Given the description of an element on the screen output the (x, y) to click on. 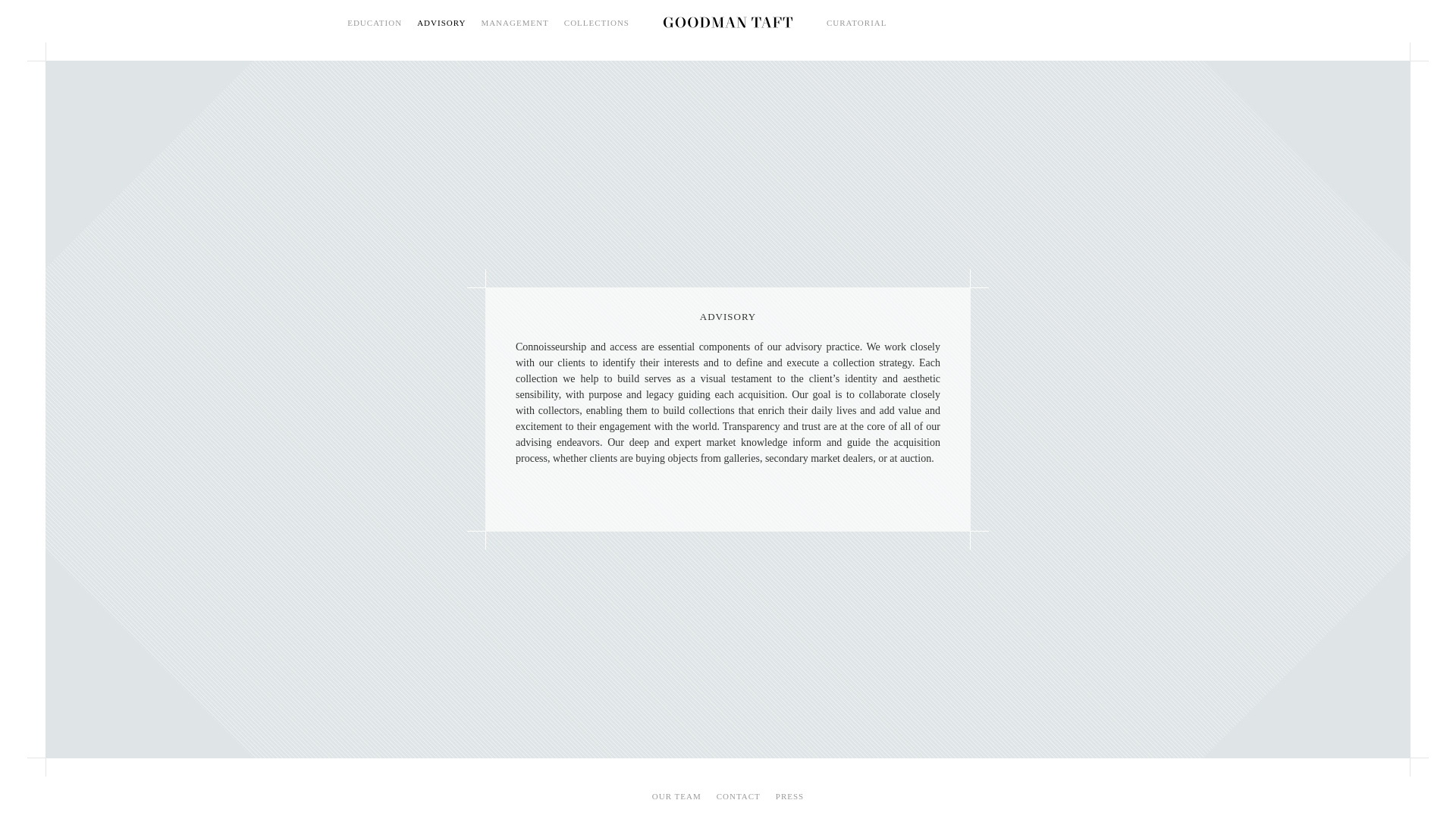
EDUCATION (374, 22)
COLLECTIONS (596, 22)
CURATORIAL (856, 22)
ADVISORY (440, 22)
Goodman taft (727, 21)
MANAGEMENT (514, 22)
